Given the description of an element on the screen output the (x, y) to click on. 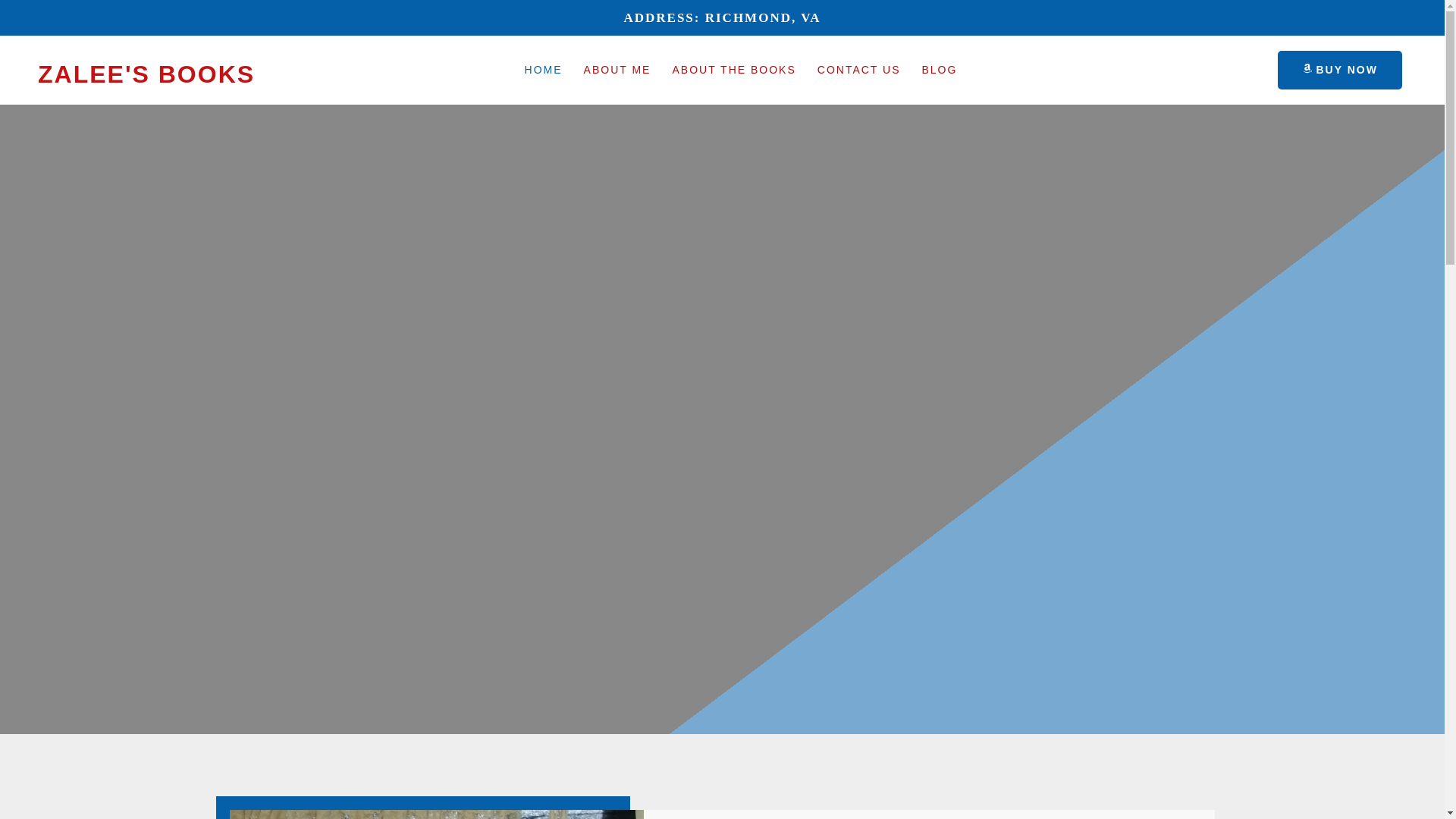
ABOUT ME (616, 70)
ZALEE'S BOOKS (145, 73)
BLOG (938, 70)
HOME (543, 70)
ABOUT THE BOOKS (732, 70)
CONTACT US (858, 70)
BUY NOW (1338, 69)
